Given the description of an element on the screen output the (x, y) to click on. 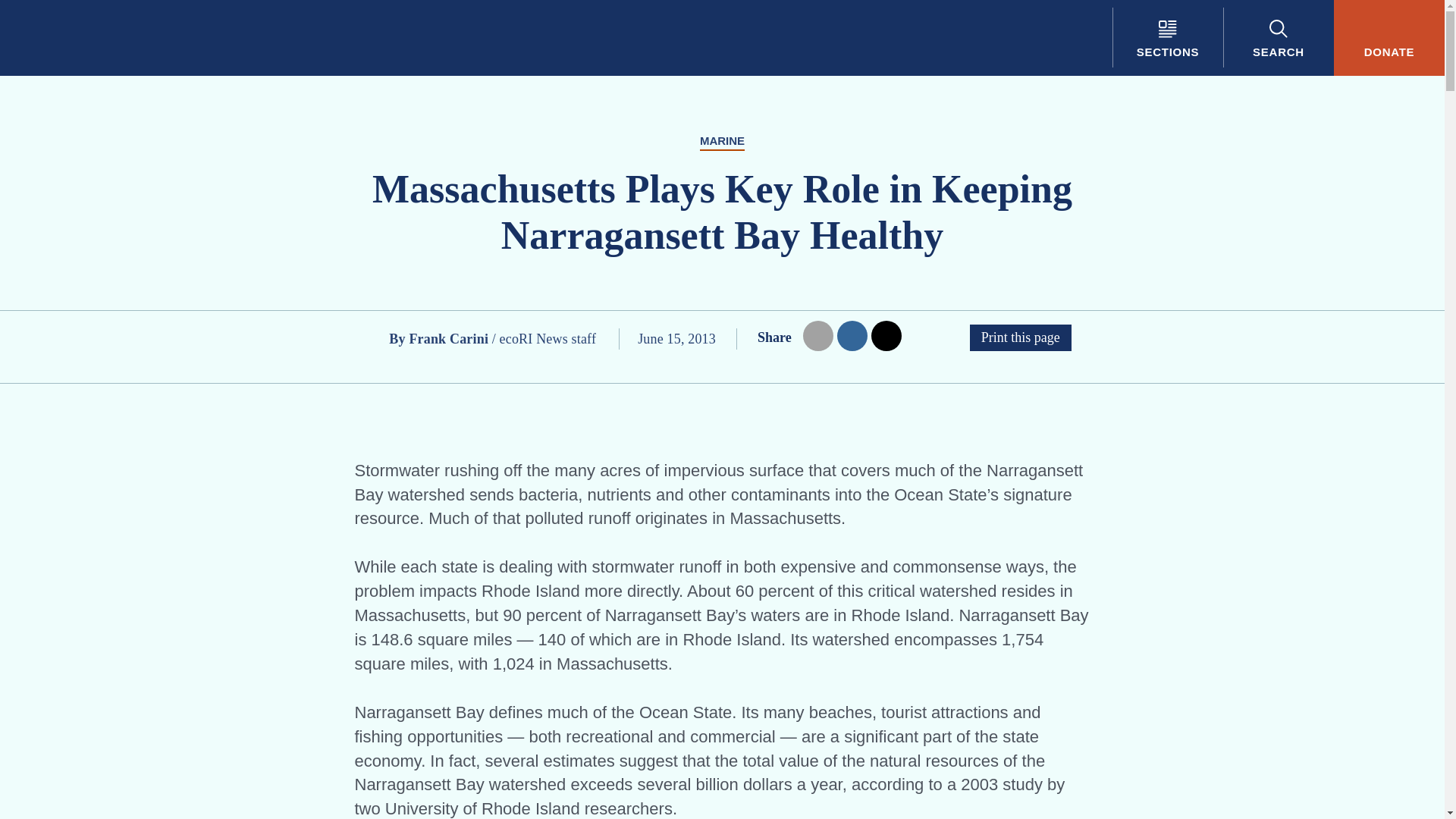
Search Button (1278, 37)
SECTIONS (1167, 37)
